Given the description of an element on the screen output the (x, y) to click on. 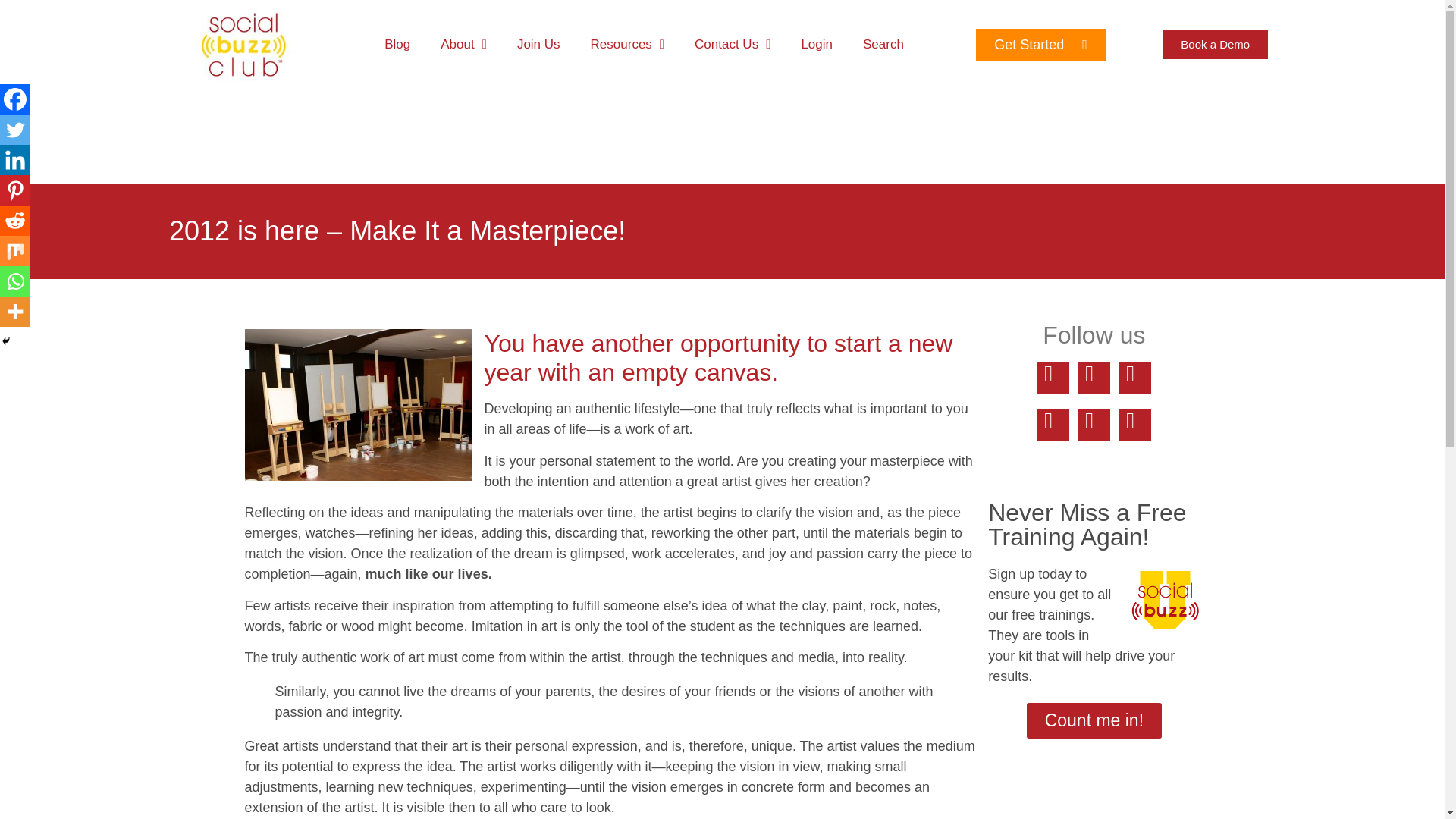
Contact Us (732, 44)
Whatsapp (15, 281)
Reddit (15, 220)
Mix (15, 250)
Login (816, 44)
Pinterest (15, 190)
Hide (5, 340)
More (15, 311)
Search (882, 44)
Blog (397, 44)
Get Started (1040, 44)
Resources (627, 44)
Twitter (15, 129)
Linkedin (15, 159)
Join Us (538, 44)
